Given the description of an element on the screen output the (x, y) to click on. 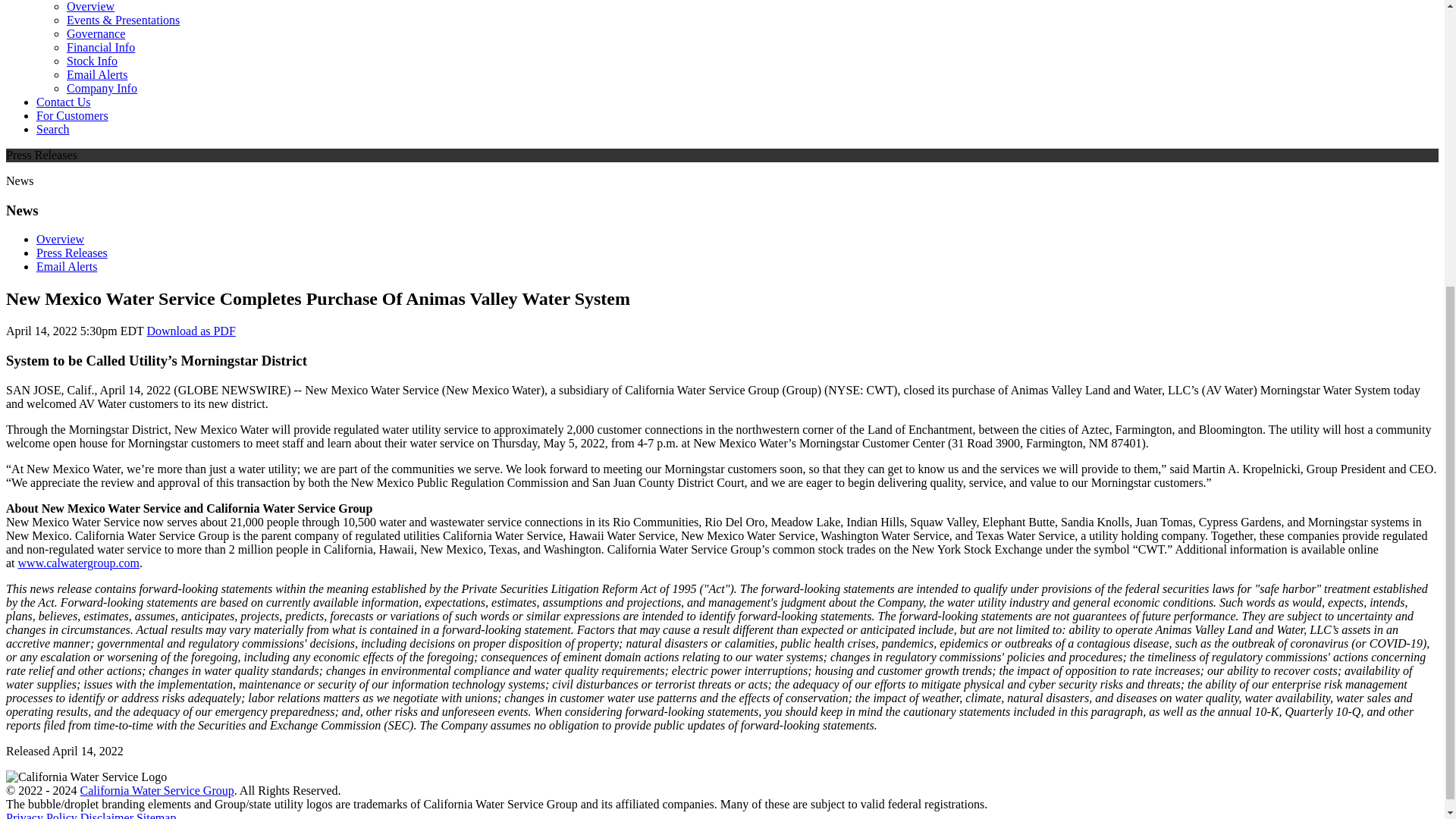
Overview (90, 6)
Financial Info (100, 47)
Governance (95, 33)
